Given the description of an element on the screen output the (x, y) to click on. 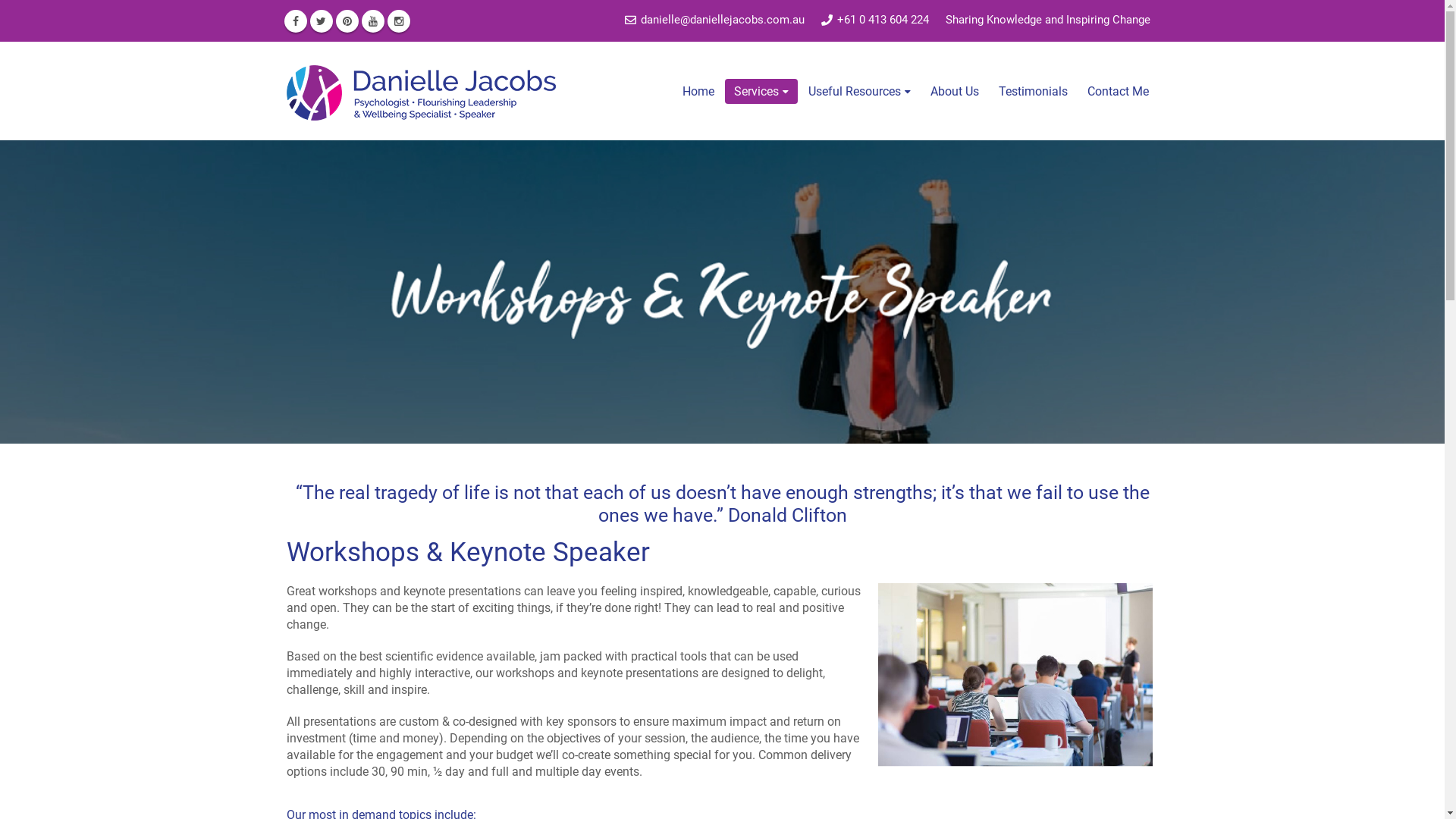
Youtube Element type: hover (371, 20)
Instagram Element type: hover (397, 20)
Contact Me Element type: text (1117, 90)
+61 0 413 604 224 Element type: text (874, 19)
Sharing Knowledge and Inspiring Change -  Element type: hover (420, 91)
danielle@daniellejacobs.com.au Element type: text (714, 19)
About Us Element type: text (954, 90)
Home Element type: text (698, 90)
Testimonials Element type: text (1032, 90)
Twitter Element type: hover (320, 20)
Pinterest Element type: hover (346, 20)
Facebook Element type: hover (294, 20)
